Given the description of an element on the screen output the (x, y) to click on. 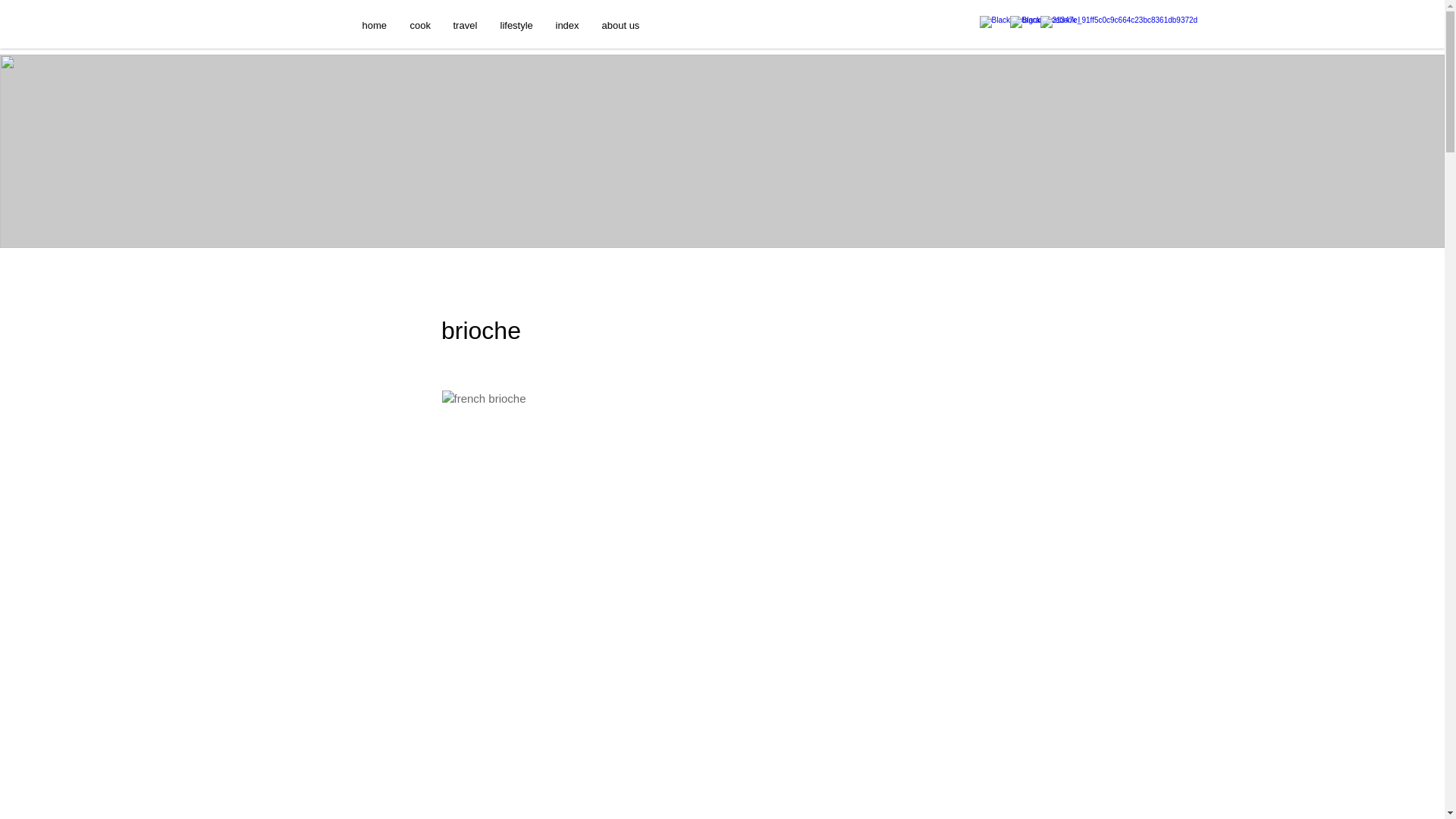
lifestyle (515, 25)
SISTERSJUNCTION (748, 86)
home (373, 25)
about us (619, 25)
cook (420, 25)
travel (464, 25)
index (567, 25)
